Given the description of an element on the screen output the (x, y) to click on. 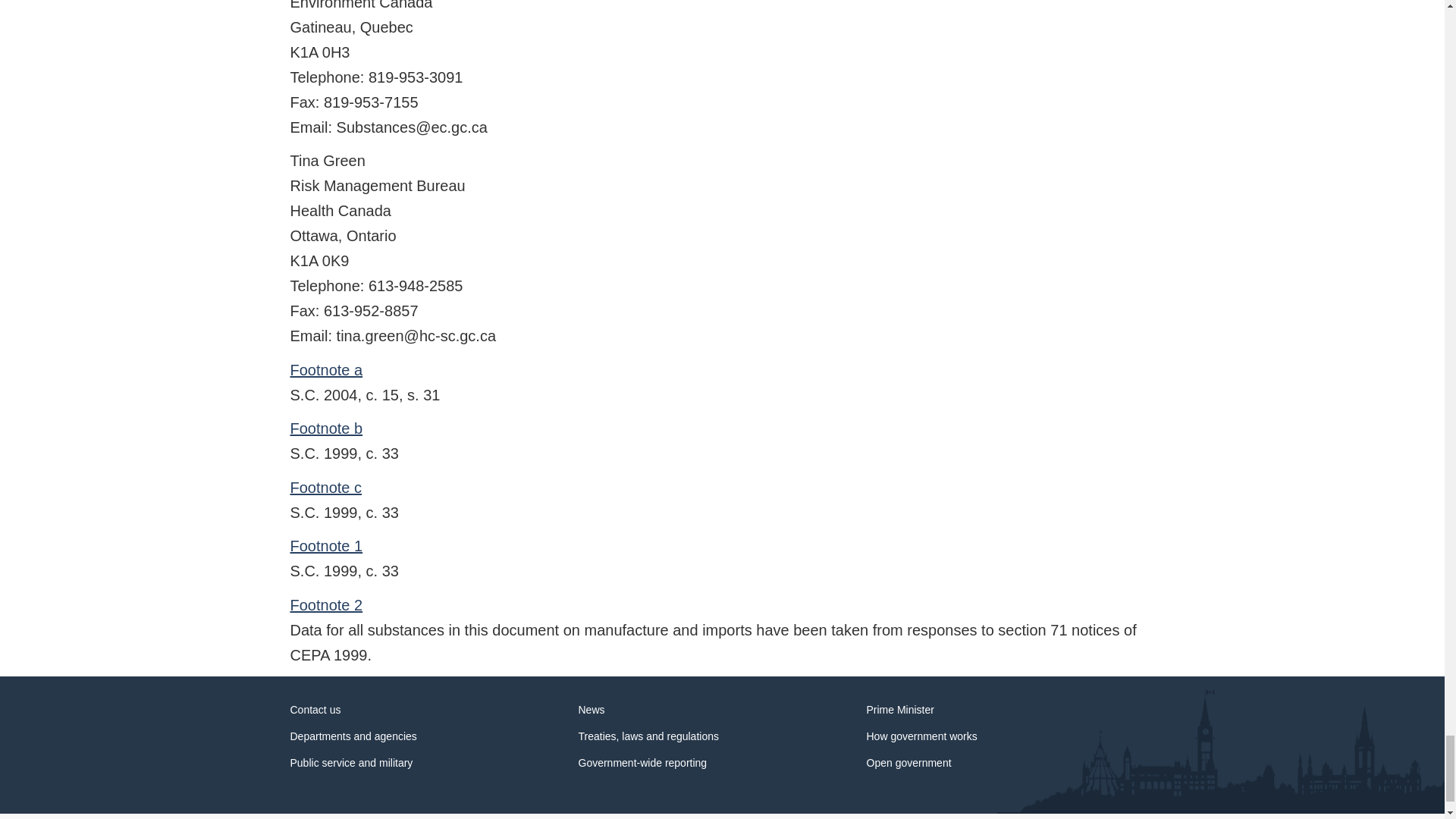
Footnote 2 (325, 605)
Footnote b (325, 428)
Footnote a (325, 369)
Contact us (314, 709)
Footnote c (325, 487)
Footnote 1 (325, 545)
